Given the description of an element on the screen output the (x, y) to click on. 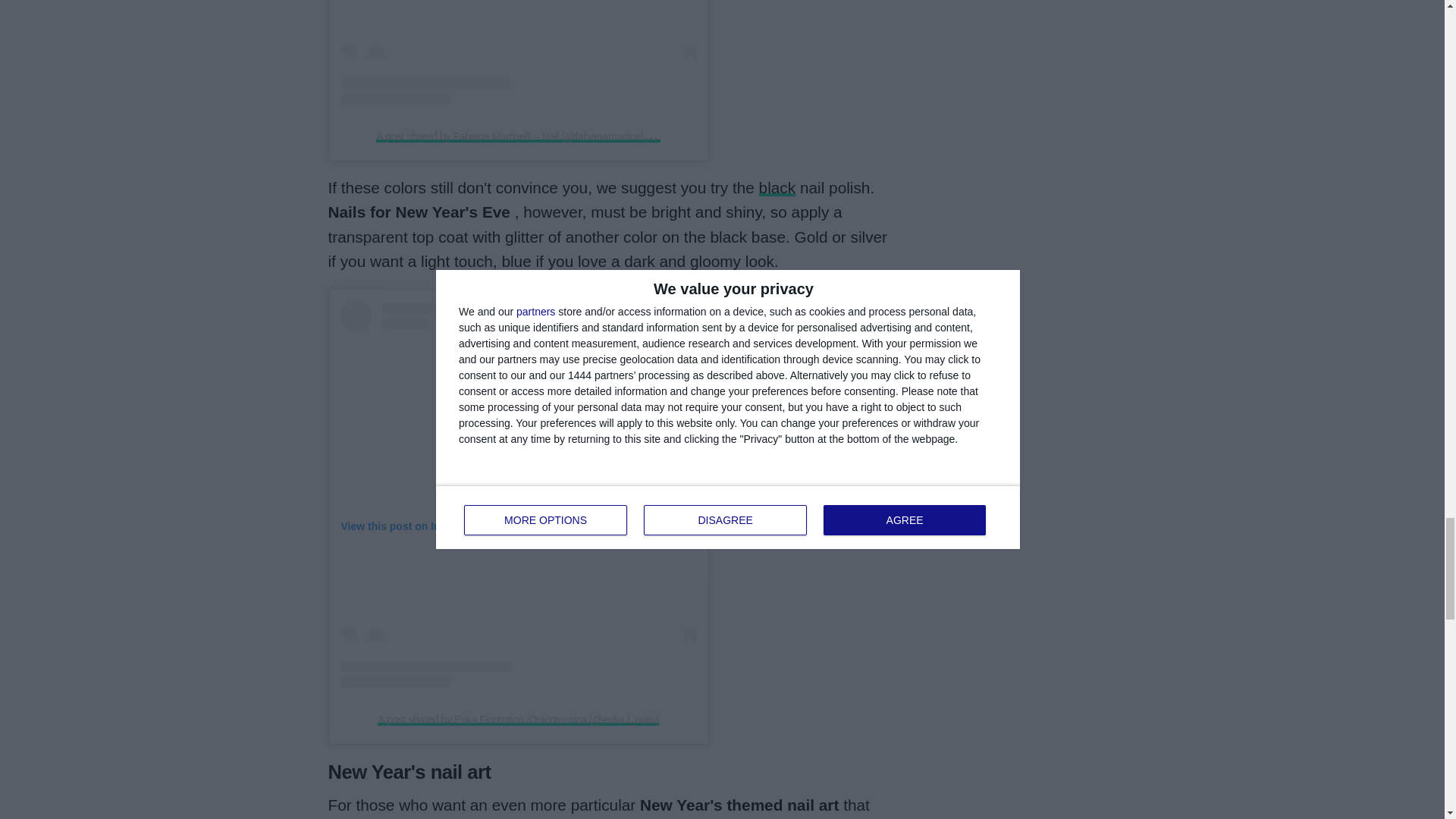
black (777, 187)
